Given the description of an element on the screen output the (x, y) to click on. 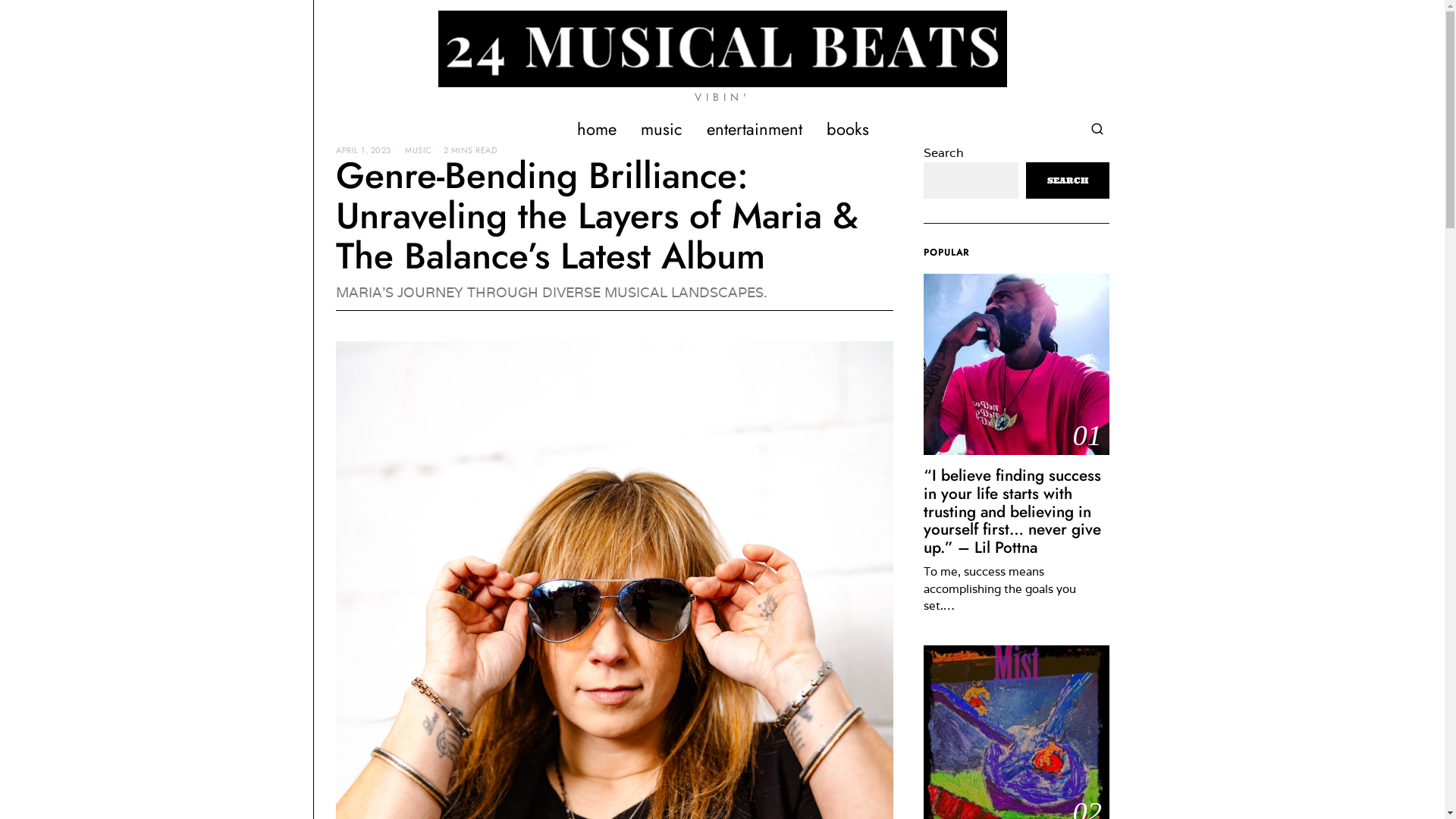
home Element type: text (595, 128)
books Element type: text (847, 128)
SEARCH Element type: text (1067, 180)
01 Element type: text (1016, 364)
MUSIC Element type: text (418, 150)
entertainment Element type: text (754, 128)
music Element type: text (660, 128)
